Given the description of an element on the screen output the (x, y) to click on. 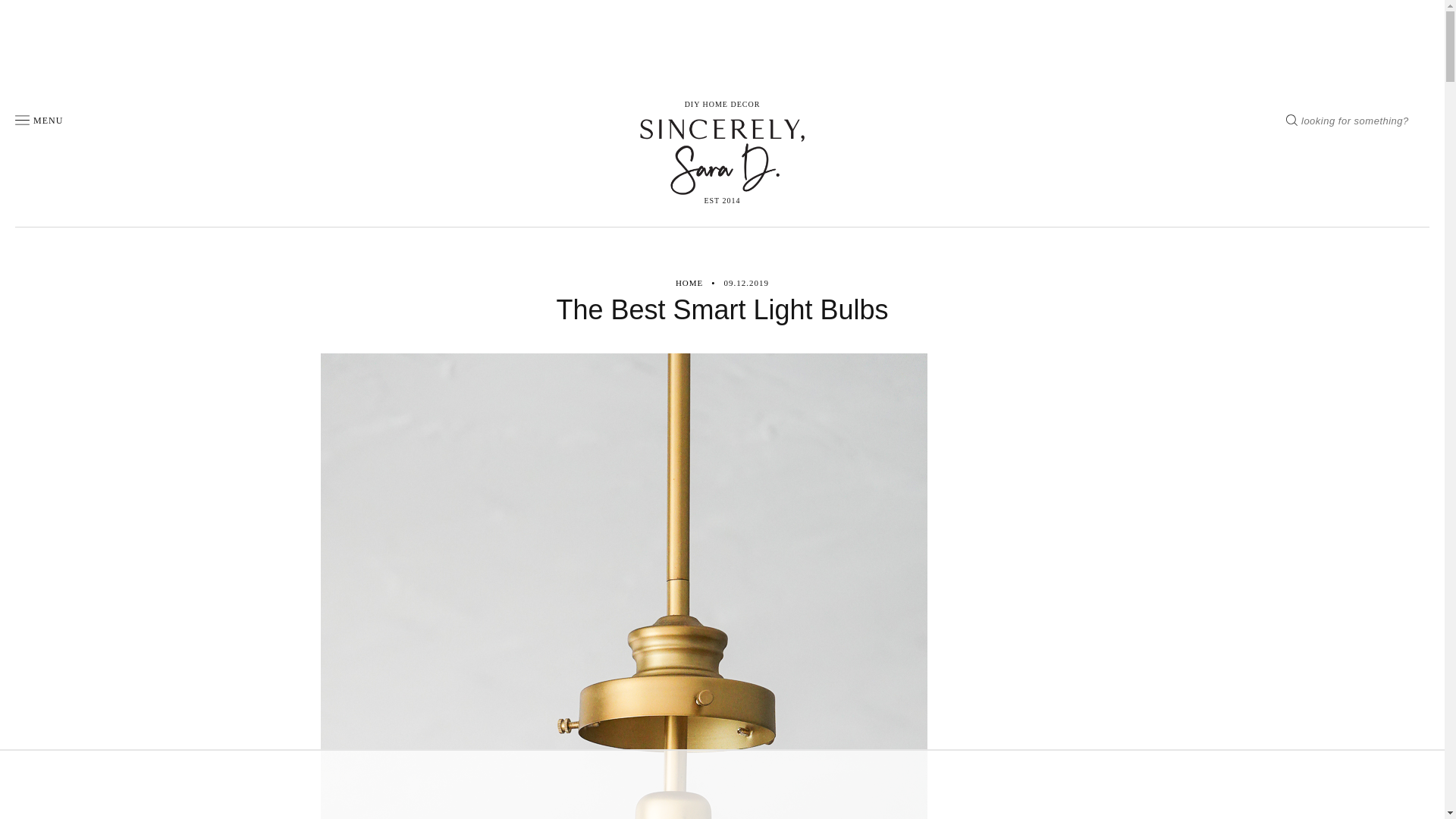
HOME (689, 282)
